Given the description of an element on the screen output the (x, y) to click on. 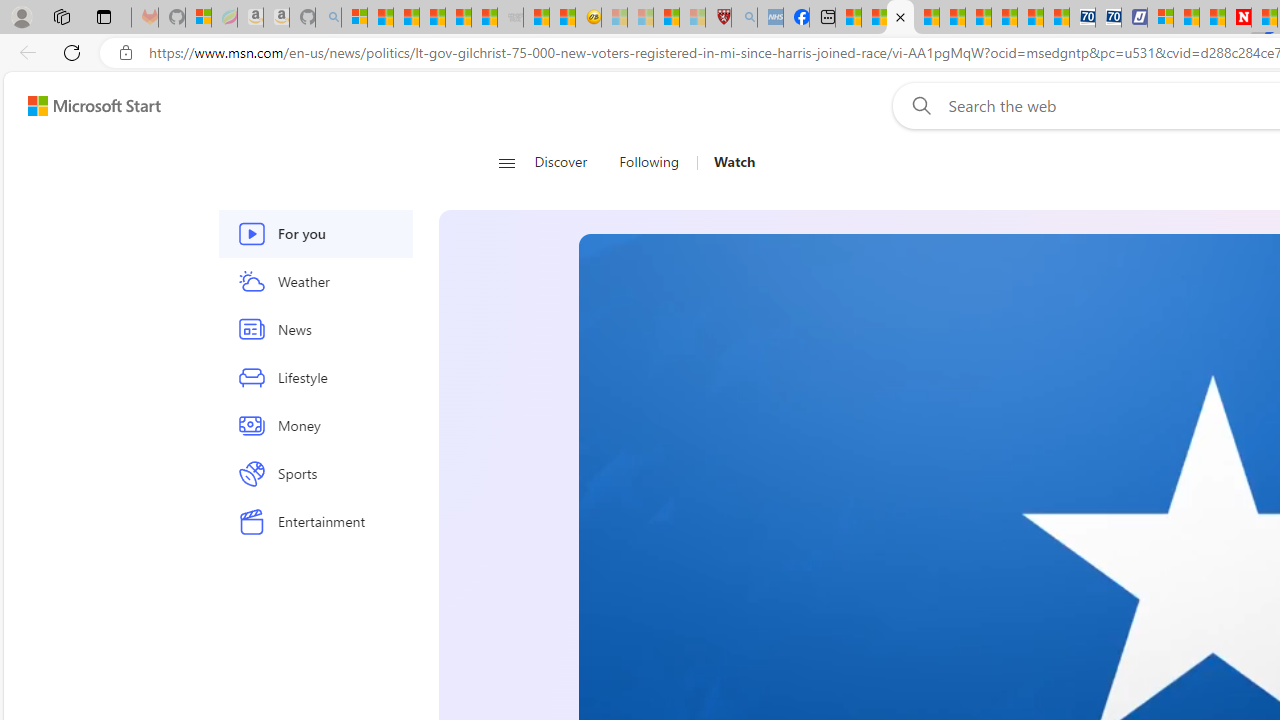
New Report Confirms 2023 Was Record Hot | Watch (458, 17)
